Given the description of an element on the screen output the (x, y) to click on. 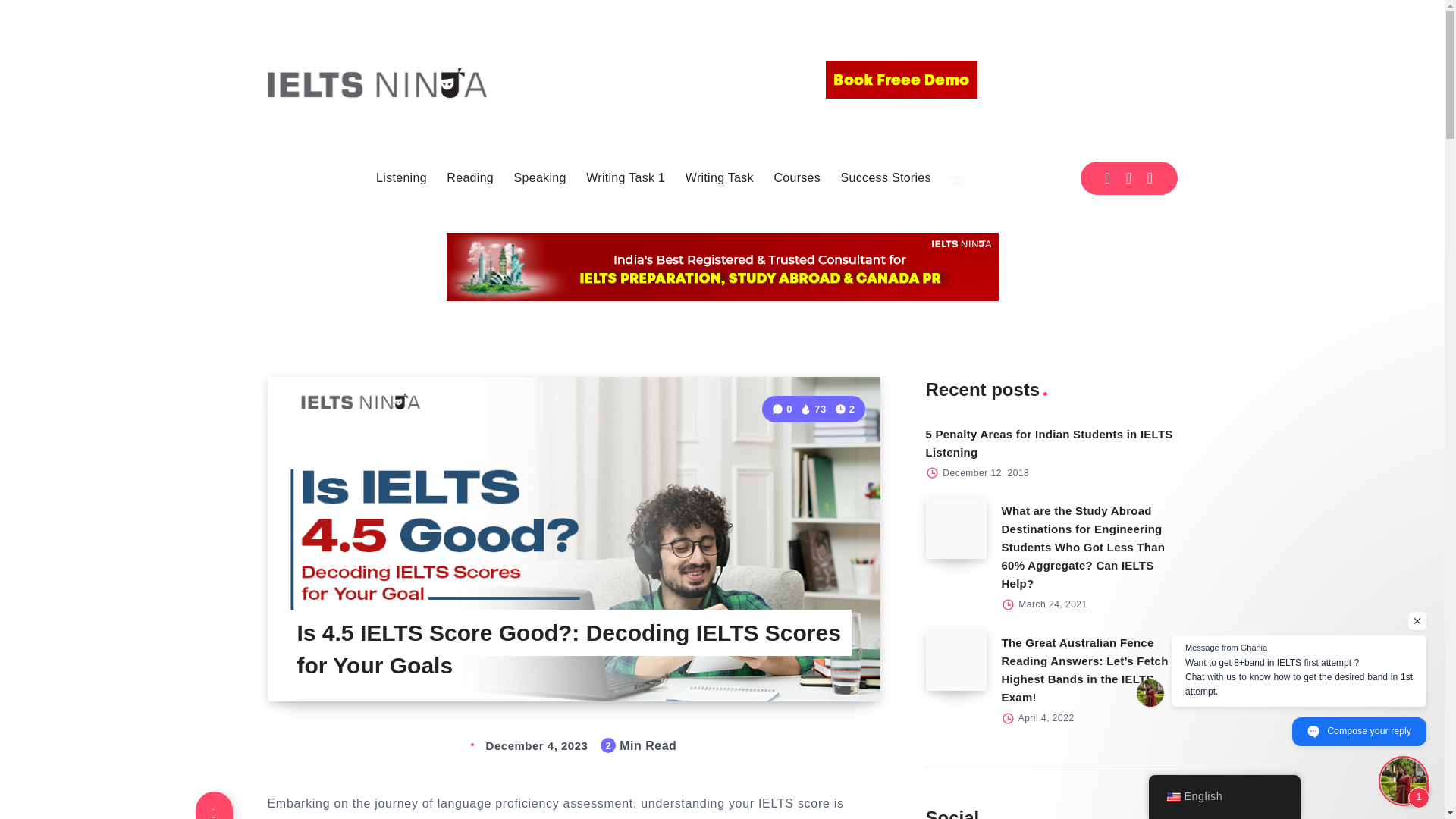
Speaking (539, 177)
0 (782, 408)
2 Min Read (845, 408)
Listening (400, 177)
Success Stories (886, 177)
English (1172, 796)
0 Comments (782, 408)
Writing Task 1 (625, 177)
Courses (797, 177)
Writing Task (719, 177)
Reading (469, 177)
73 Views (813, 408)
